Given the description of an element on the screen output the (x, y) to click on. 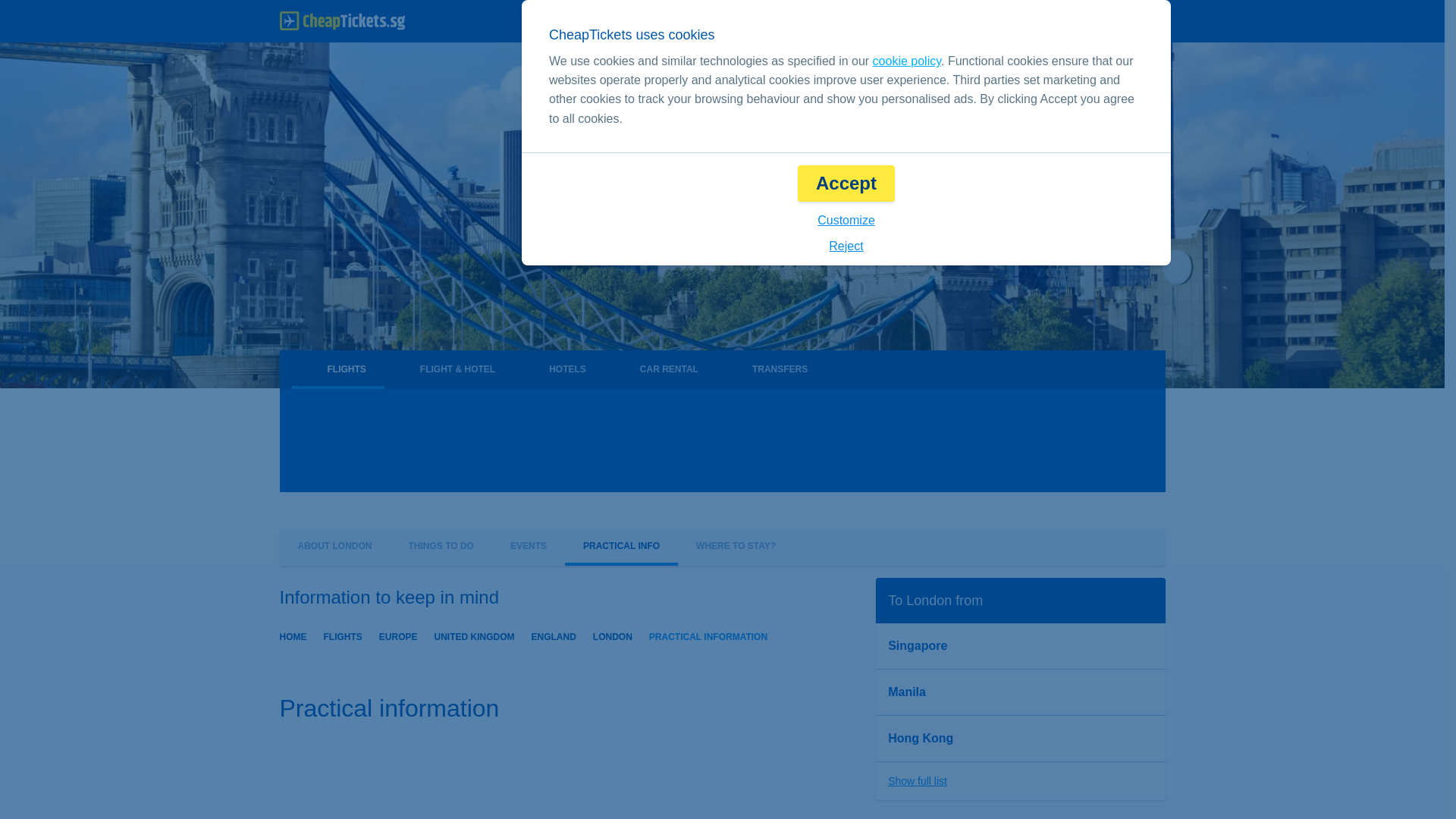
ENGLAND (553, 635)
Accept (846, 183)
HOME (292, 635)
English (902, 21)
LONDON (611, 635)
cookie policy (906, 60)
My Account (1116, 21)
UNITED KINGDOM (474, 635)
FLIGHTS (342, 635)
EUROPE (397, 635)
